Given the description of an element on the screen output the (x, y) to click on. 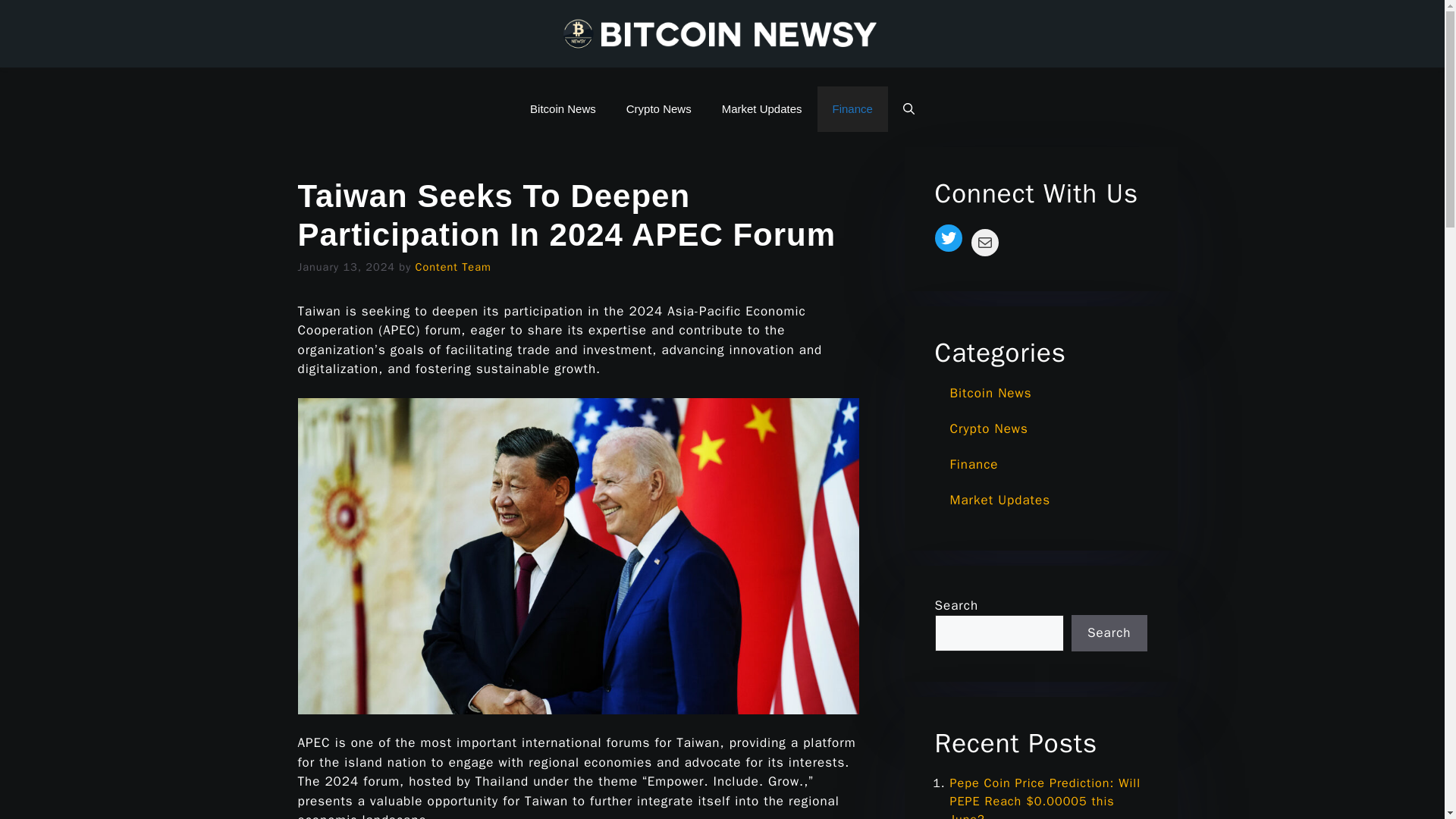
View all posts by Content Team (453, 266)
Finance (1027, 469)
Twitter (947, 237)
Market Updates (1027, 505)
Bitcoin News (563, 108)
Search (1109, 633)
Finance (852, 108)
Bitcoin News (1027, 398)
Crypto News (1027, 433)
Mail (984, 242)
